Given the description of an element on the screen output the (x, y) to click on. 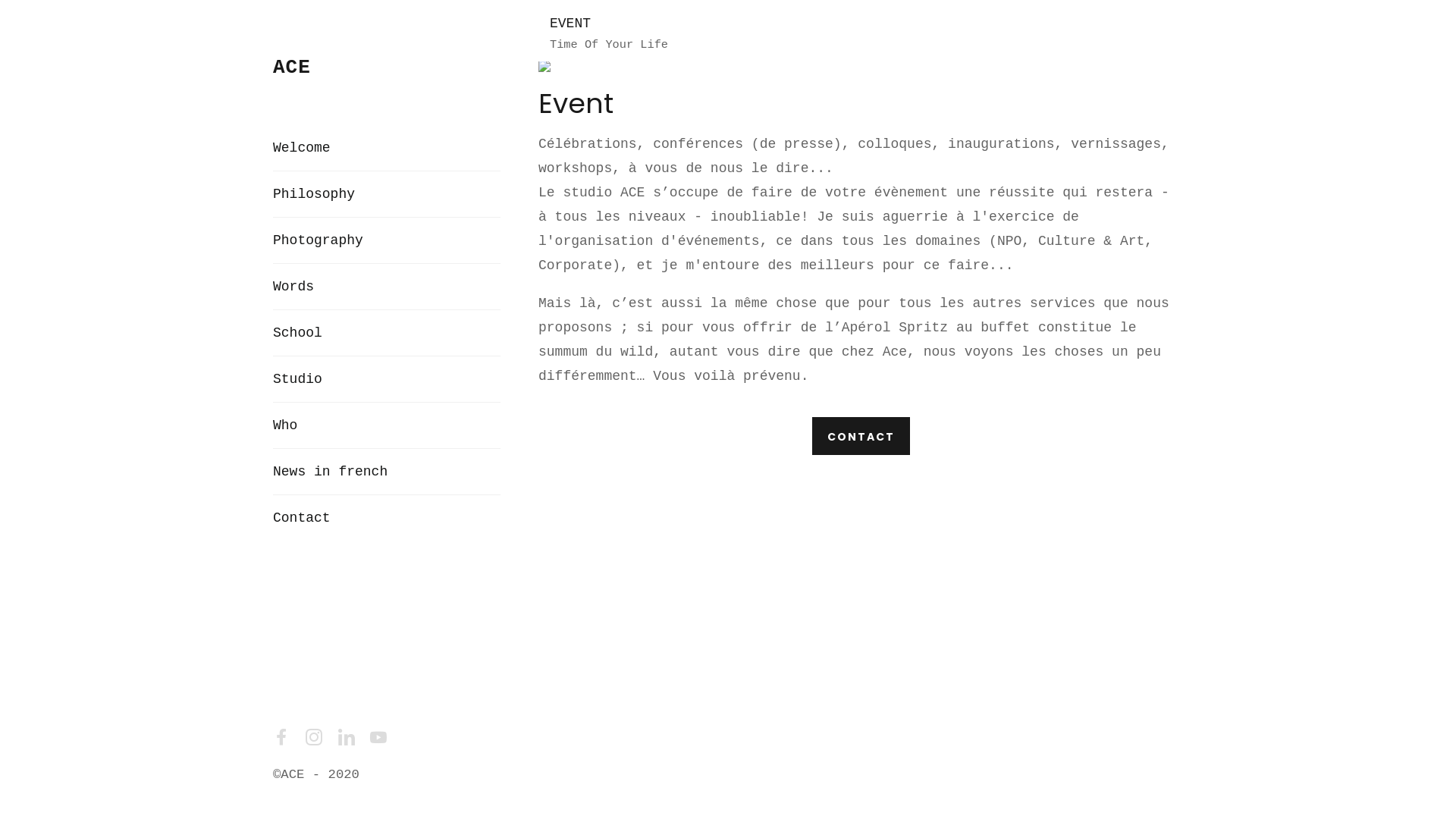
EVENT Element type: hover (544, 65)
News in french Element type: text (386, 471)
Who Element type: text (386, 425)
CONTACT Element type: text (860, 436)
Welcome Element type: text (386, 147)
Words Element type: text (386, 286)
Contact Element type: text (386, 517)
ACE Element type: text (291, 67)
Studio Element type: text (386, 378)
Philosophy Element type: text (386, 193)
Photography Element type: text (386, 240)
School Element type: text (386, 332)
